Given the description of an element on the screen output the (x, y) to click on. 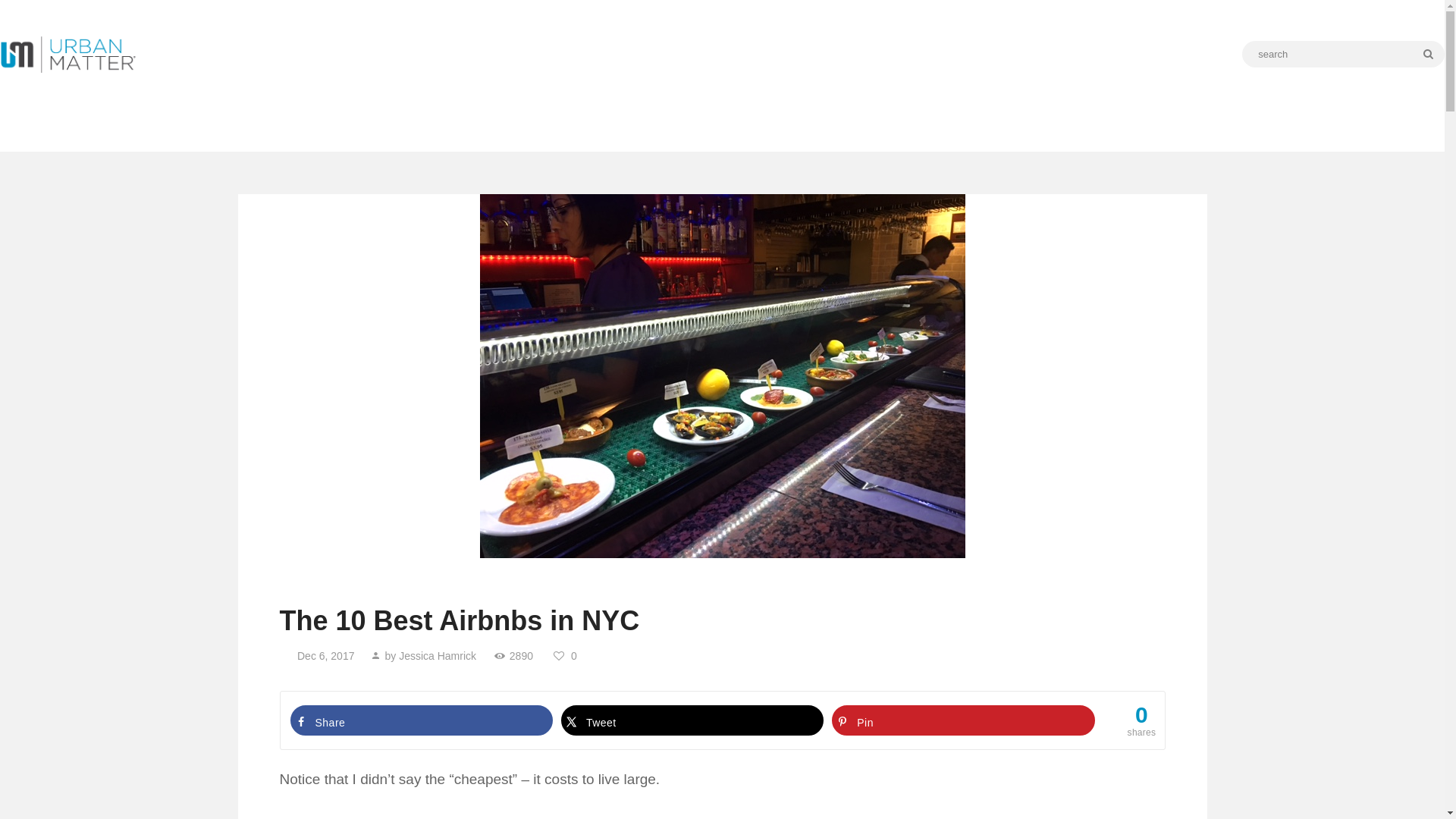
Save to Pinterest (962, 720)
Like (566, 655)
Share on Facebook (421, 720)
Share on X (692, 720)
